Given the description of an element on the screen output the (x, y) to click on. 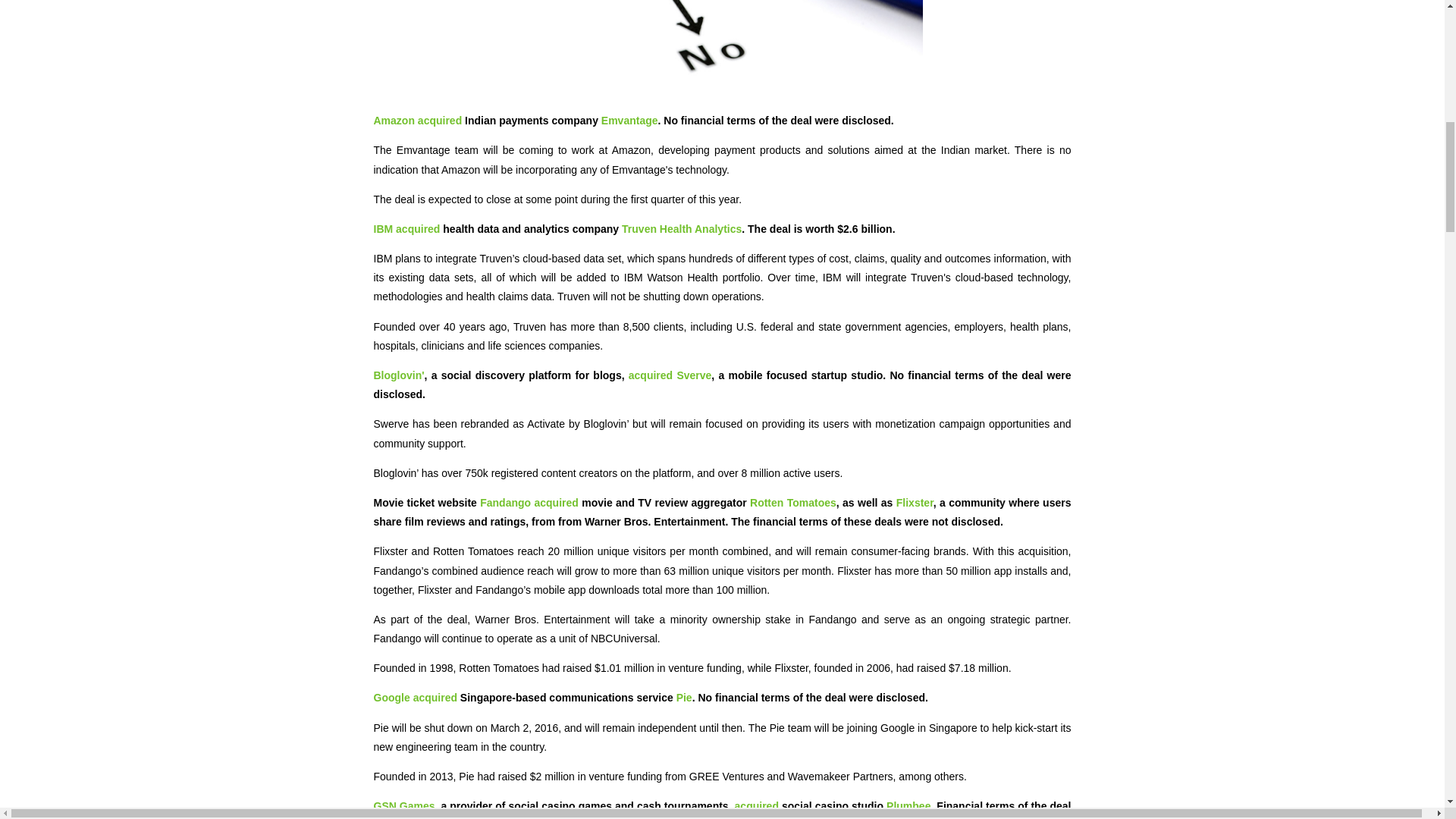
acquired (556, 502)
acquired (439, 120)
GSN Games (402, 806)
acquired (417, 228)
Fandango (505, 502)
IBM (382, 228)
Sverve (694, 375)
Amazon (392, 120)
Emvantage (629, 120)
Google (390, 697)
Rotten Tomatoes (792, 502)
Bloglovin' (397, 375)
Truven Health Analytics (681, 228)
acquired (650, 375)
acquired (435, 697)
